Given the description of an element on the screen output the (x, y) to click on. 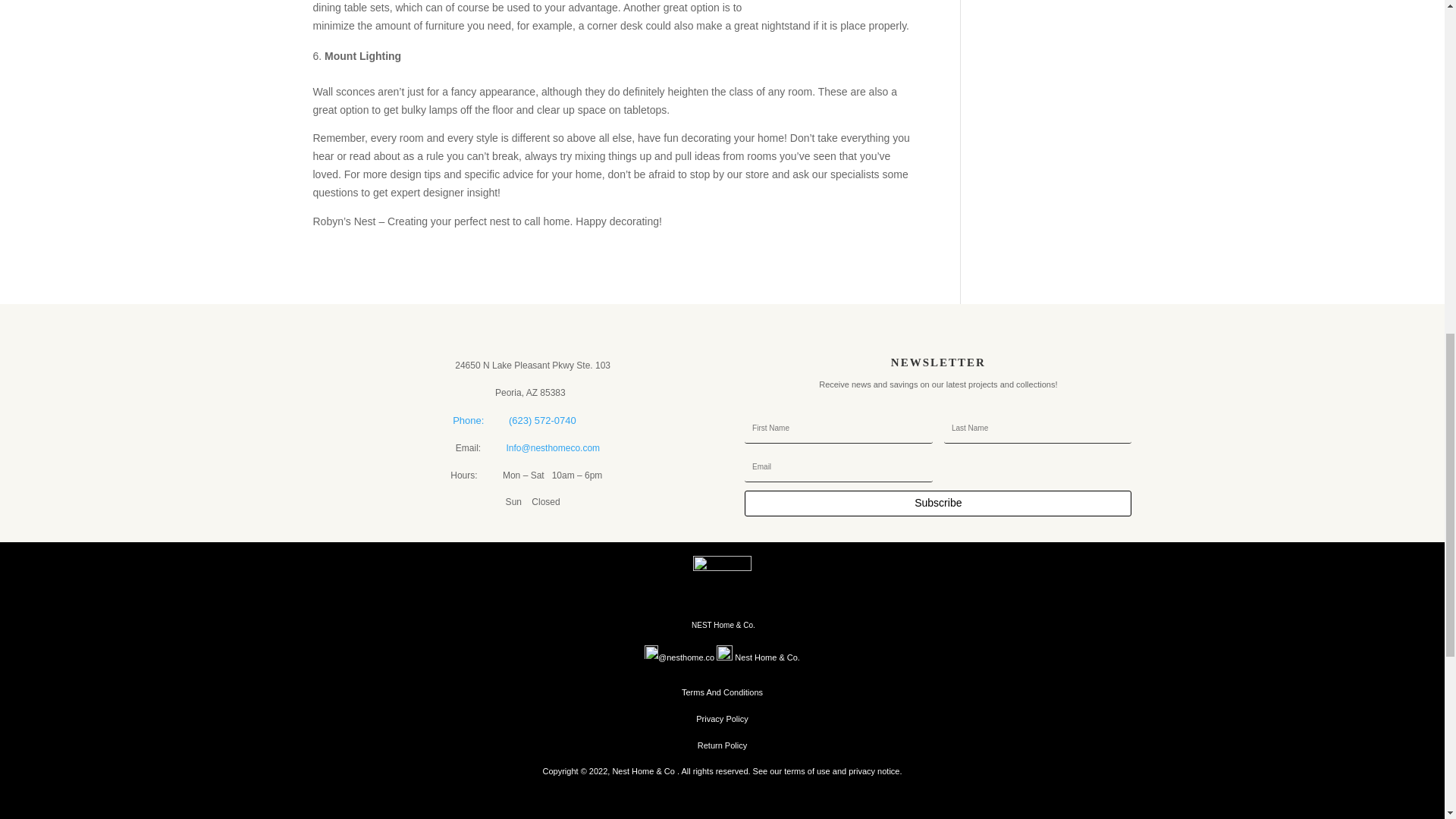
Terms And Conditions (721, 691)
Privacy Policy (721, 718)
Return Policy (721, 745)
Subscribe (937, 503)
